Given the description of an element on the screen output the (x, y) to click on. 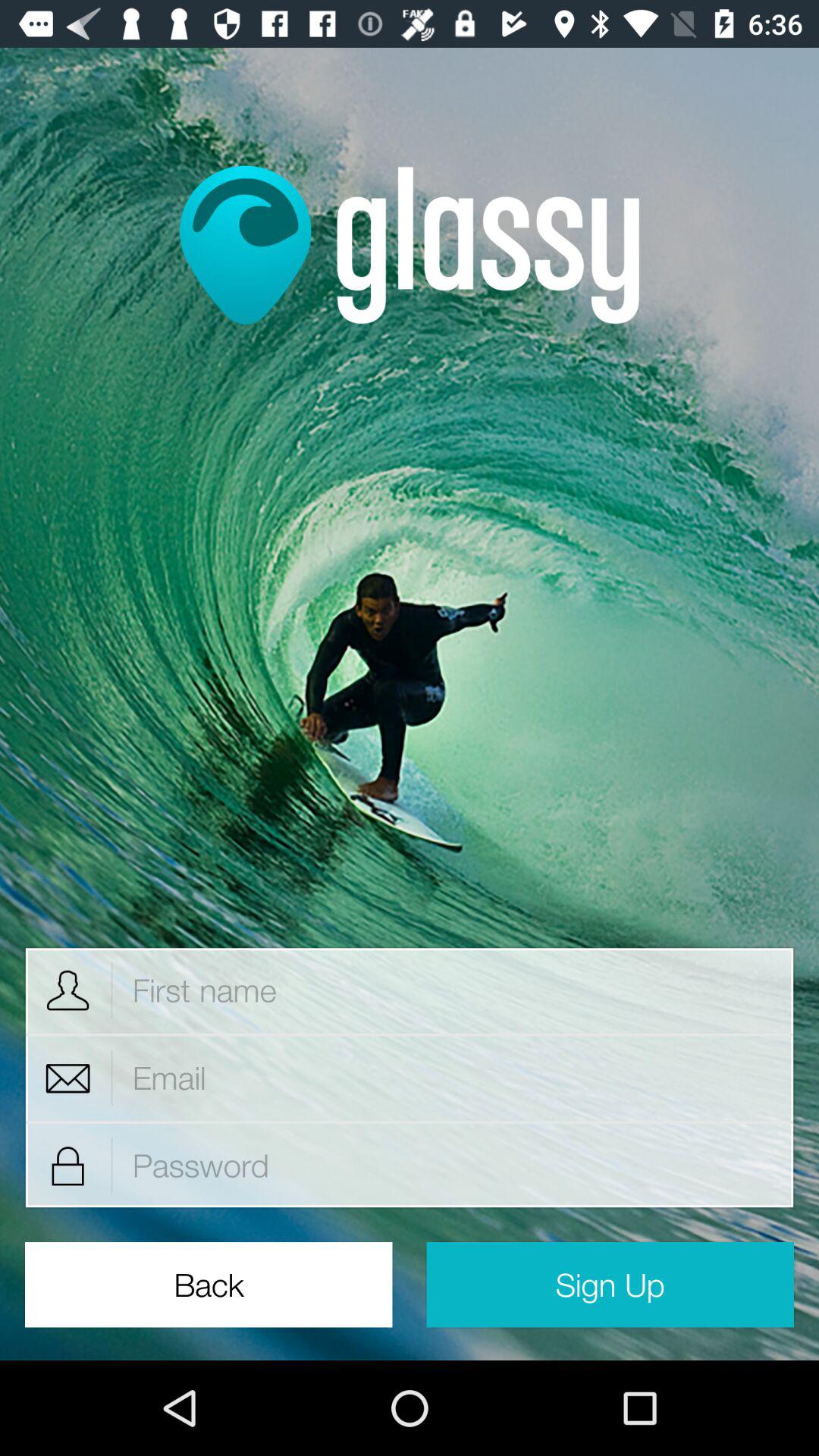
enter email address (453, 1077)
